Given the description of an element on the screen output the (x, y) to click on. 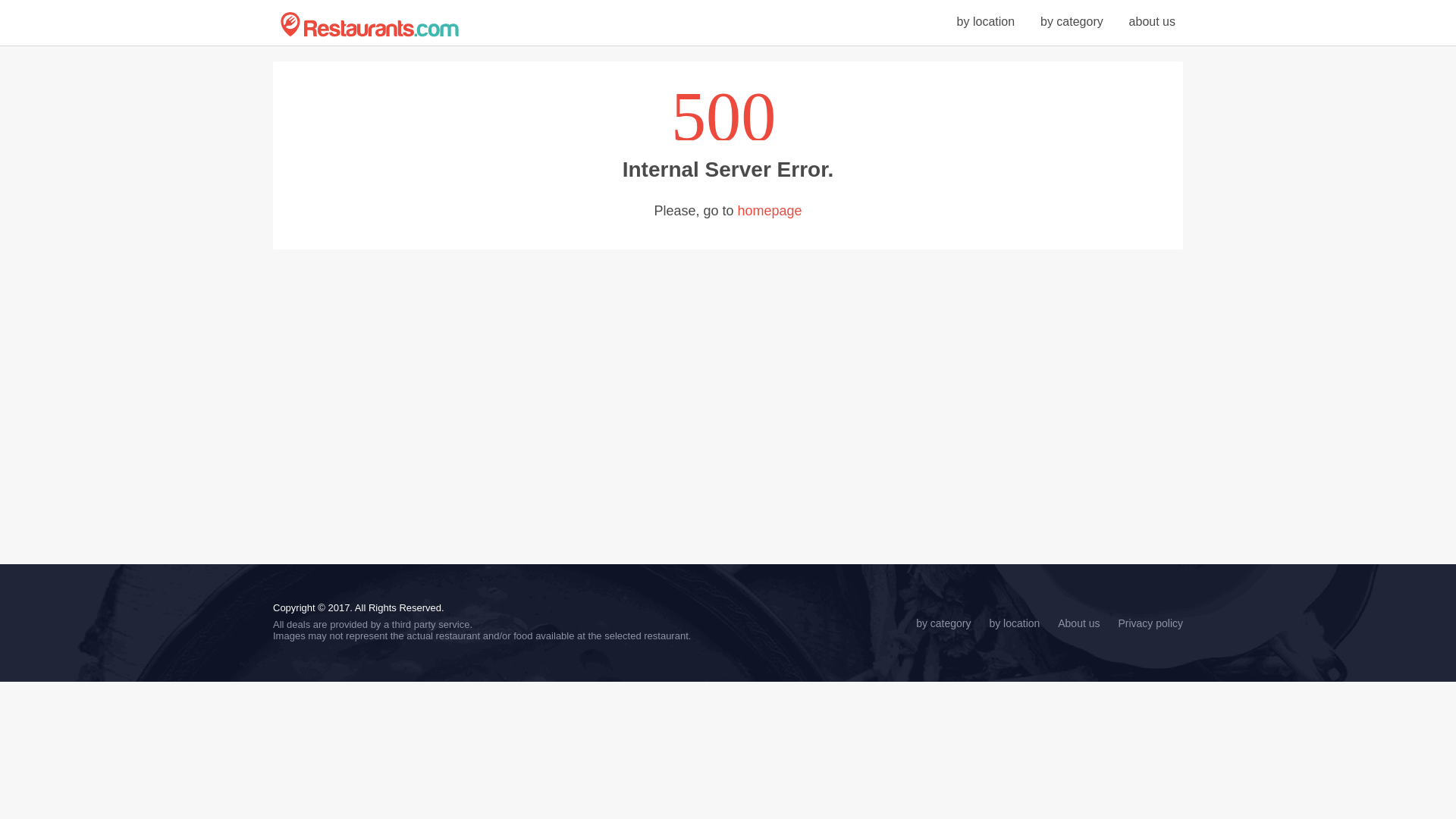
Restaurants by category (1072, 21)
by location (985, 21)
Restaurants.com (369, 24)
Privacy policy (1150, 623)
Restaurants by location (985, 21)
by category (1072, 21)
About us (1078, 623)
About us (1078, 623)
by location (1013, 623)
Privacy policy (1150, 623)
